Given the description of an element on the screen output the (x, y) to click on. 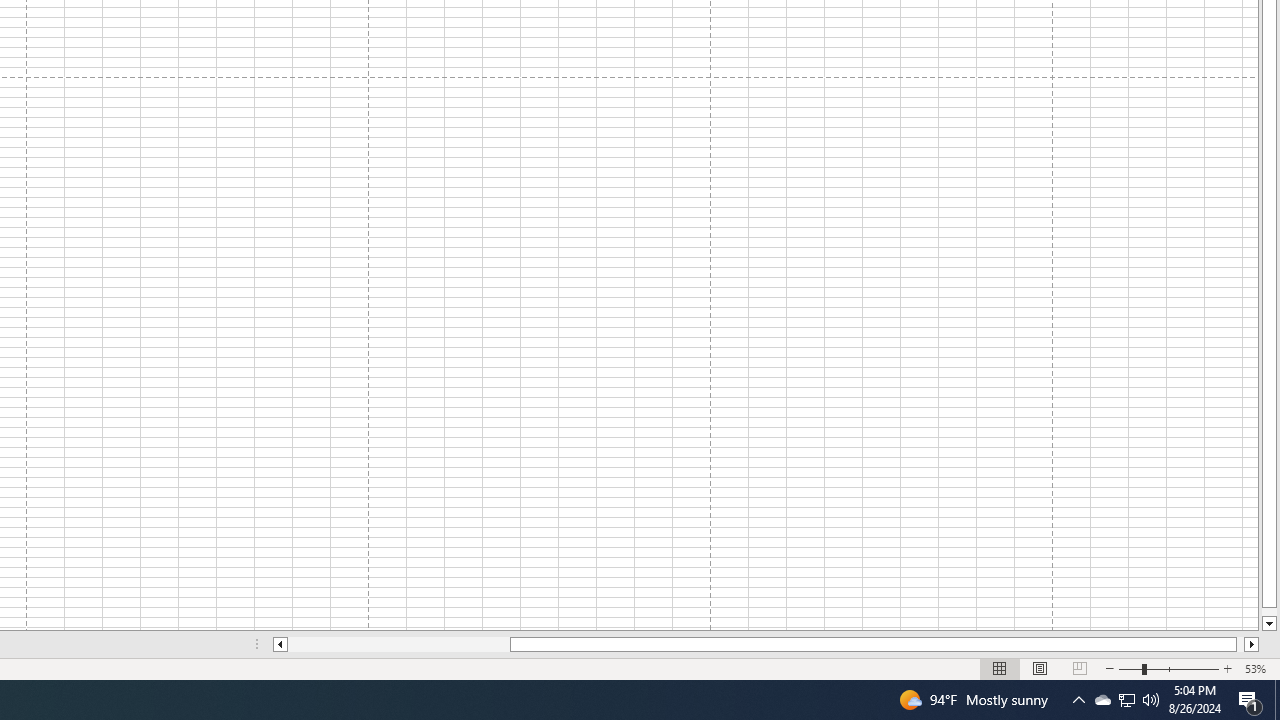
Page left (398, 644)
